Given the description of an element on the screen output the (x, y) to click on. 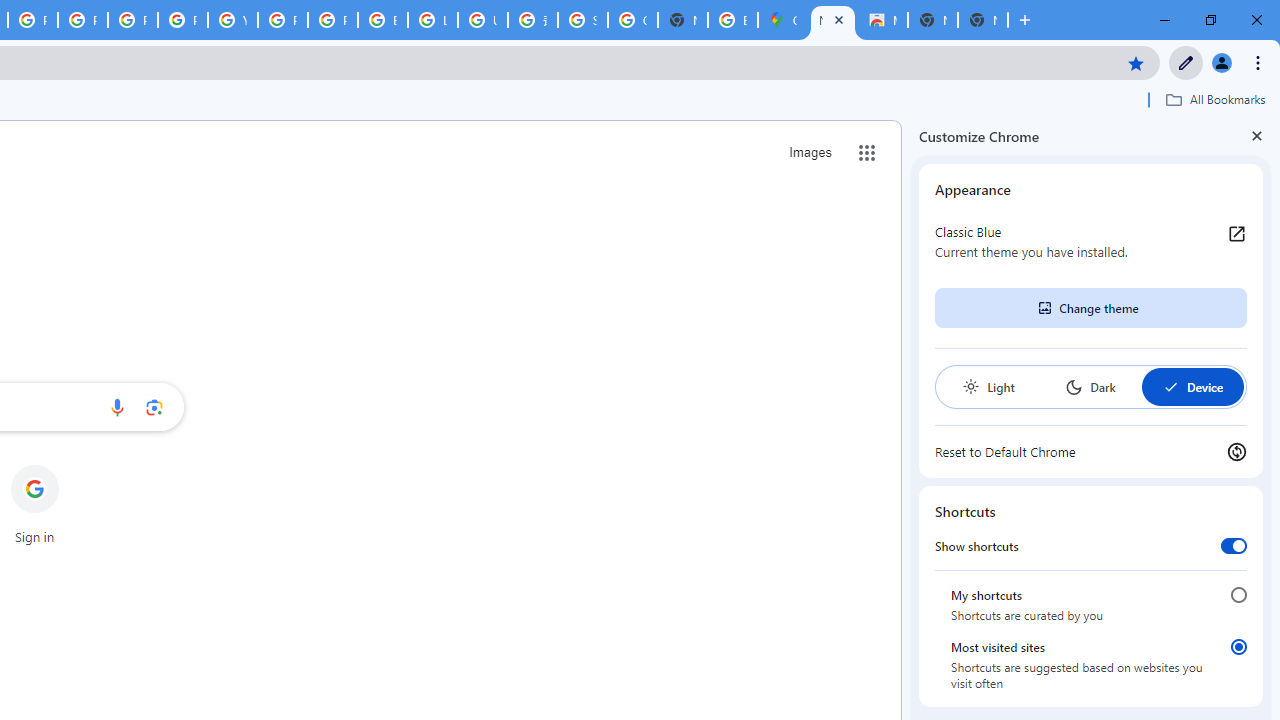
Device (1192, 386)
Light (988, 386)
Dark (1090, 386)
My shortcuts (1238, 594)
Privacy Help Center - Policies Help (82, 20)
Search by image (153, 407)
Reset to Default Chrome (1091, 452)
